Given the description of an element on the screen output the (x, y) to click on. 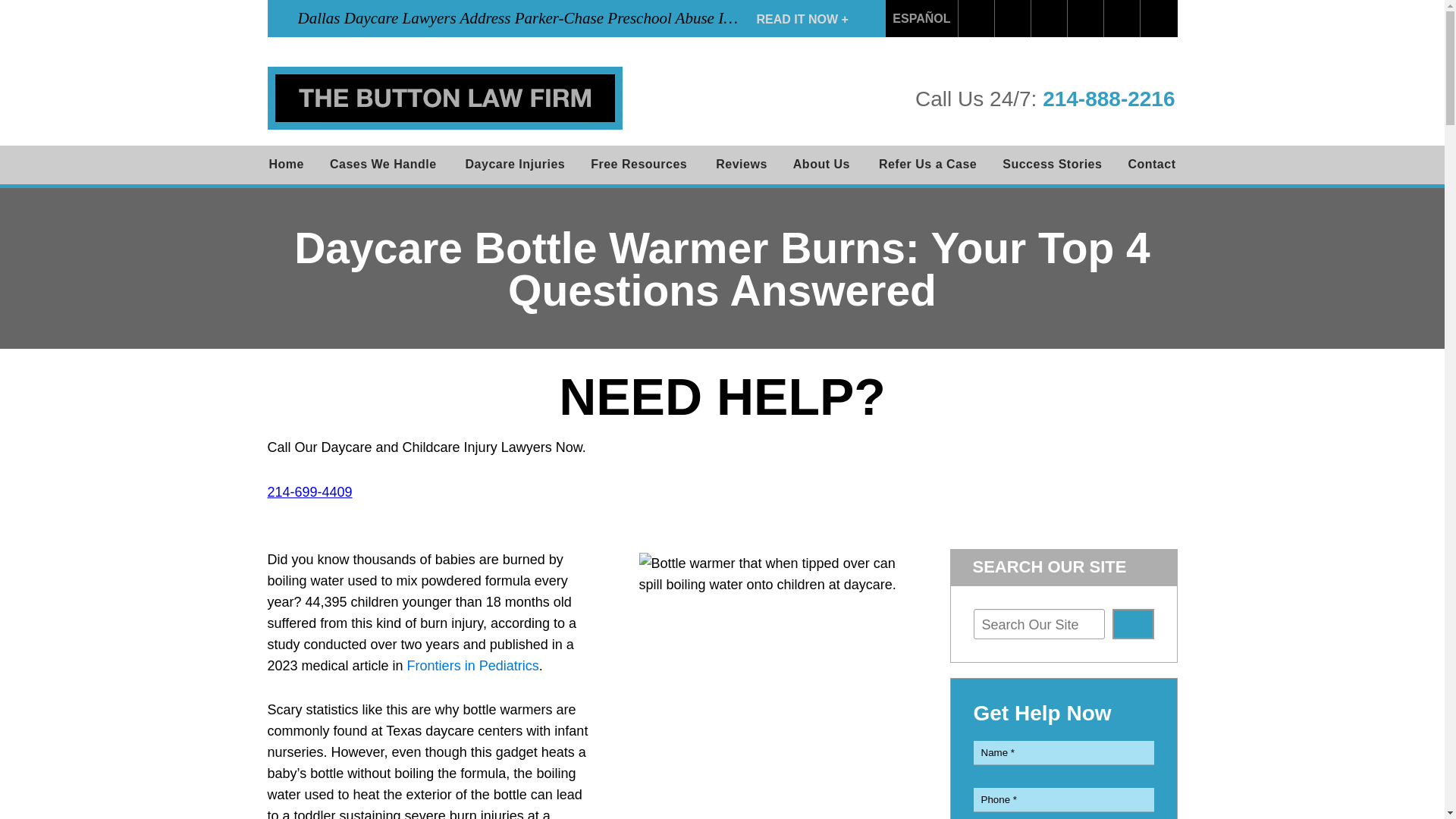
214-888-2216 (1108, 98)
Search (1133, 624)
Search (1158, 18)
Home (286, 164)
Cases We Handle (384, 164)
